Given the description of an element on the screen output the (x, y) to click on. 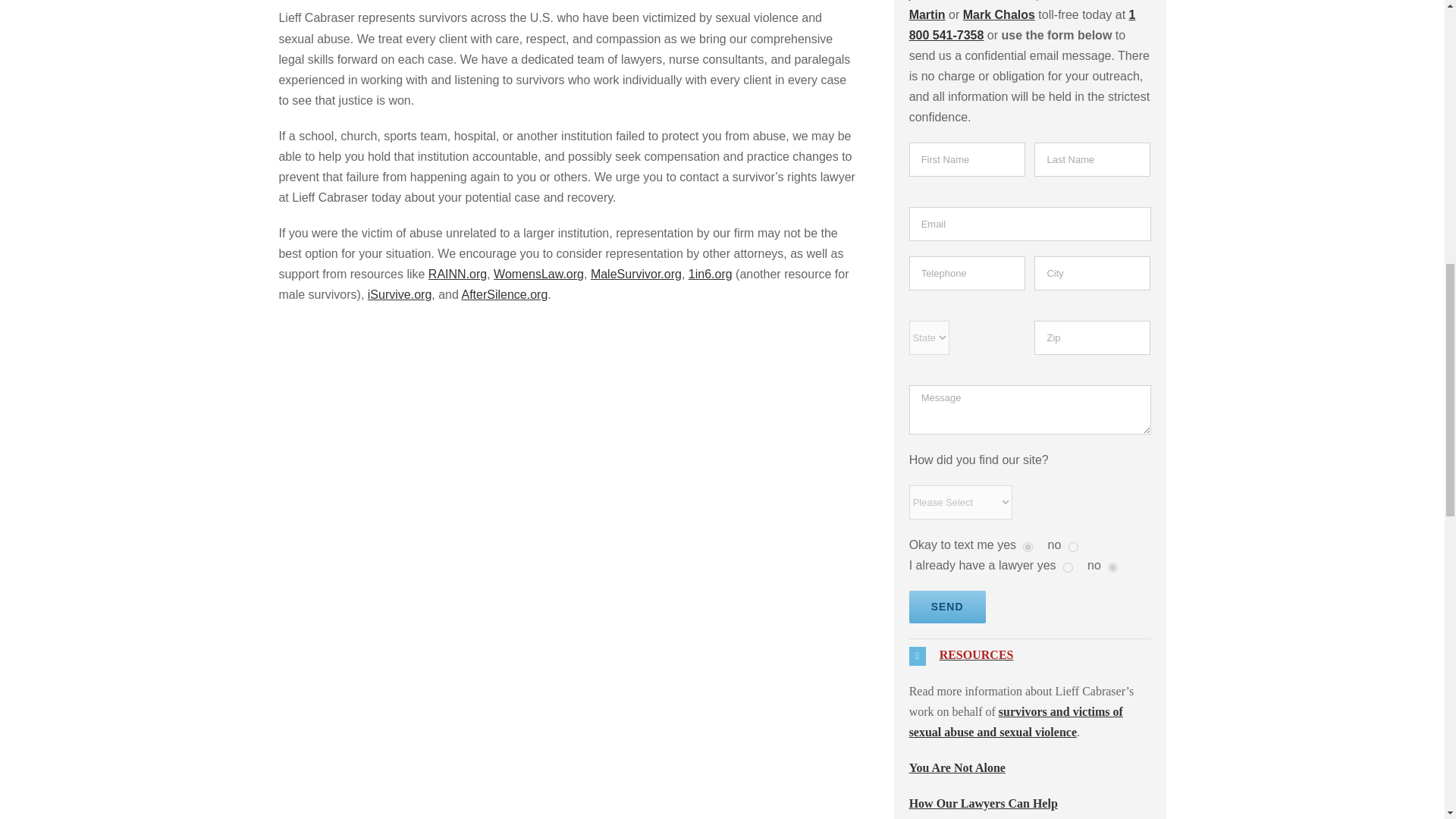
yes (1067, 567)
RAINN.org (457, 273)
WomensLaw.org (538, 273)
yes (1027, 547)
no (1073, 547)
no (1113, 567)
Send (946, 606)
